Given the description of an element on the screen output the (x, y) to click on. 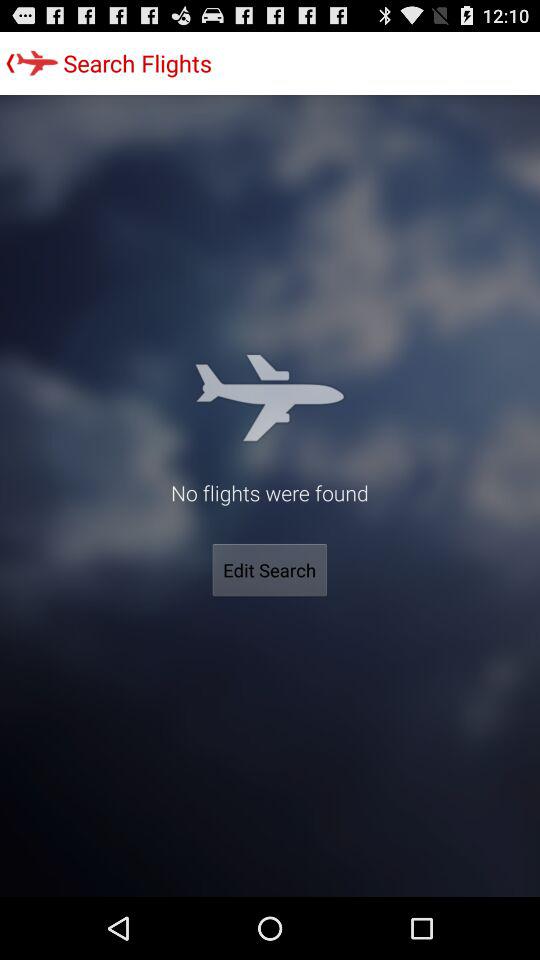
turn off item below the no flights were (269, 569)
